Given the description of an element on the screen output the (x, y) to click on. 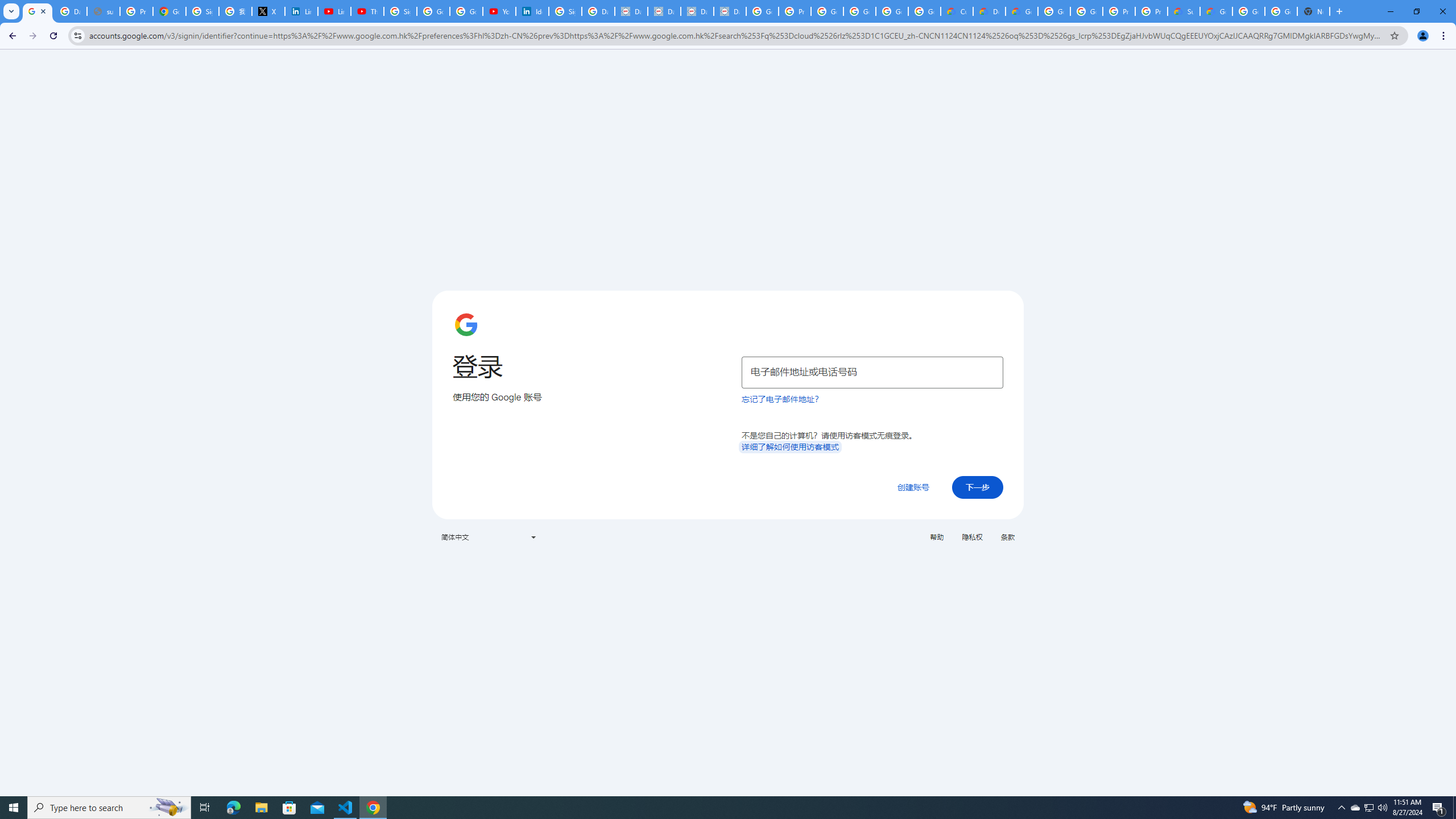
Data Privacy Framework (663, 11)
Google Cloud Platform (1248, 11)
Support Hub | Google Cloud (1183, 11)
